Given the description of an element on the screen output the (x, y) to click on. 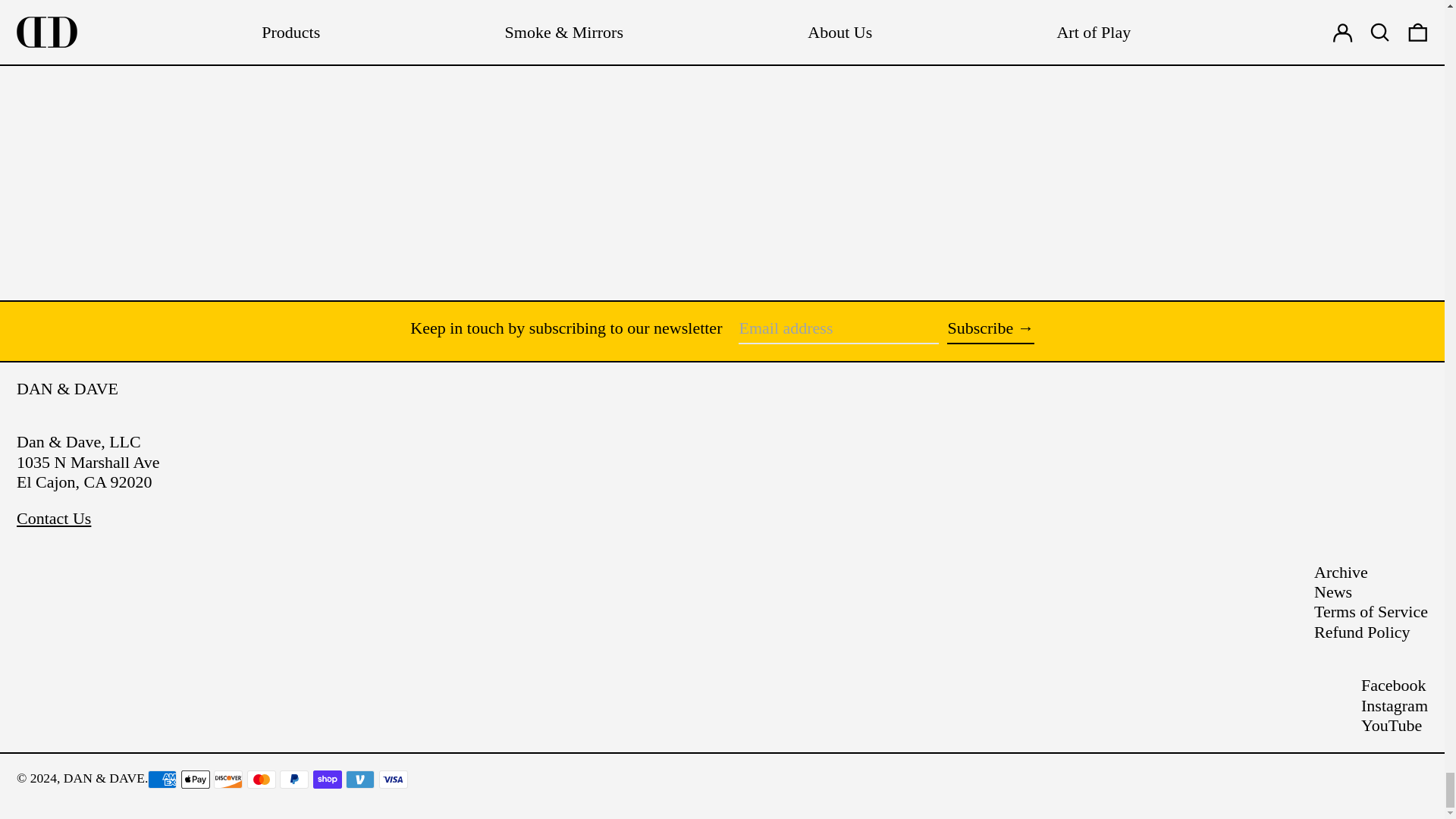
Contact (53, 517)
